Given the description of an element on the screen output the (x, y) to click on. 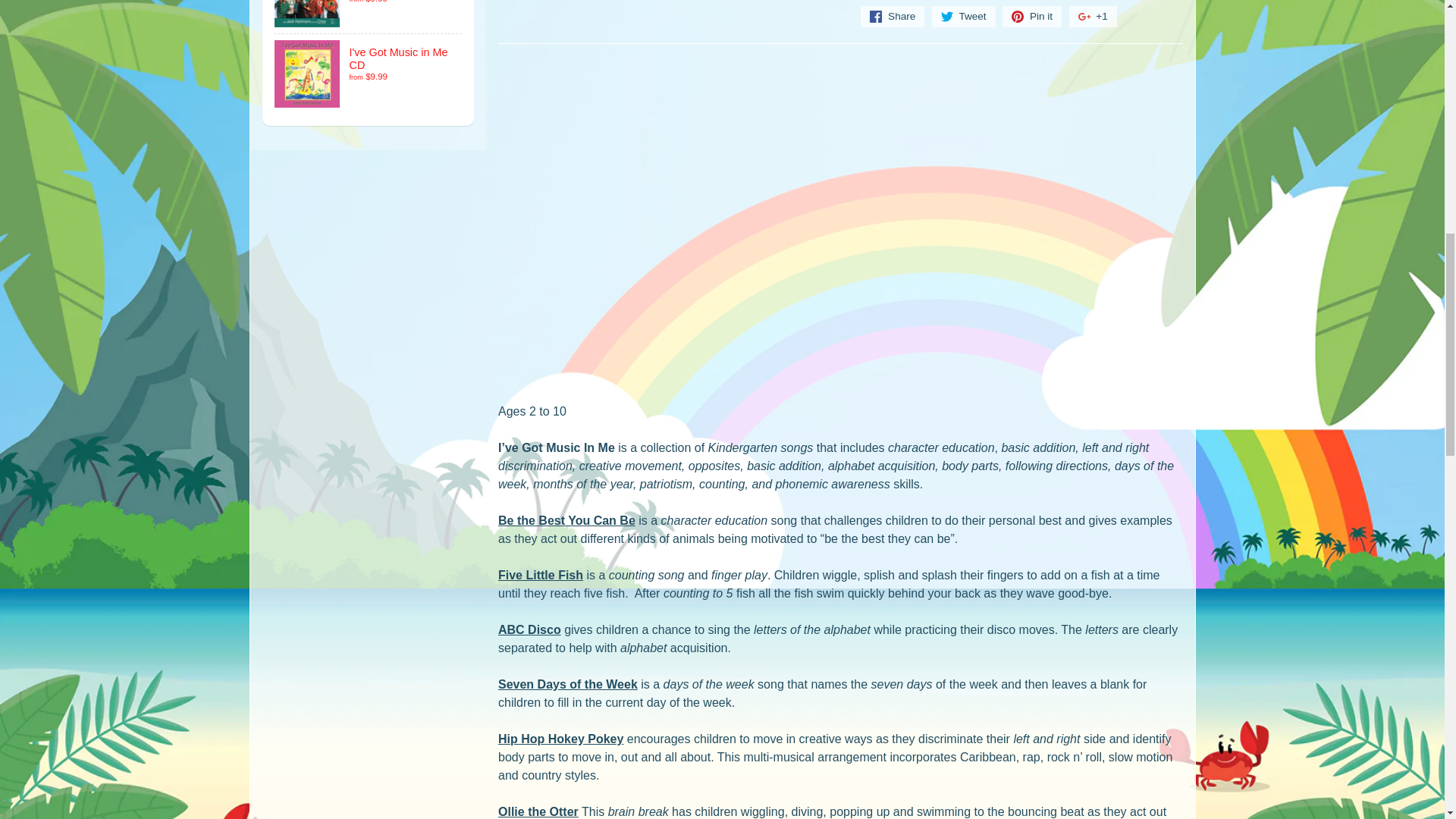
Hip-Hop AlphaBop Vol 2 CD (369, 17)
I've Got Music in Me CD (369, 73)
Tweet on Twitter (963, 16)
Share on Facebook (892, 16)
